Given the description of an element on the screen output the (x, y) to click on. 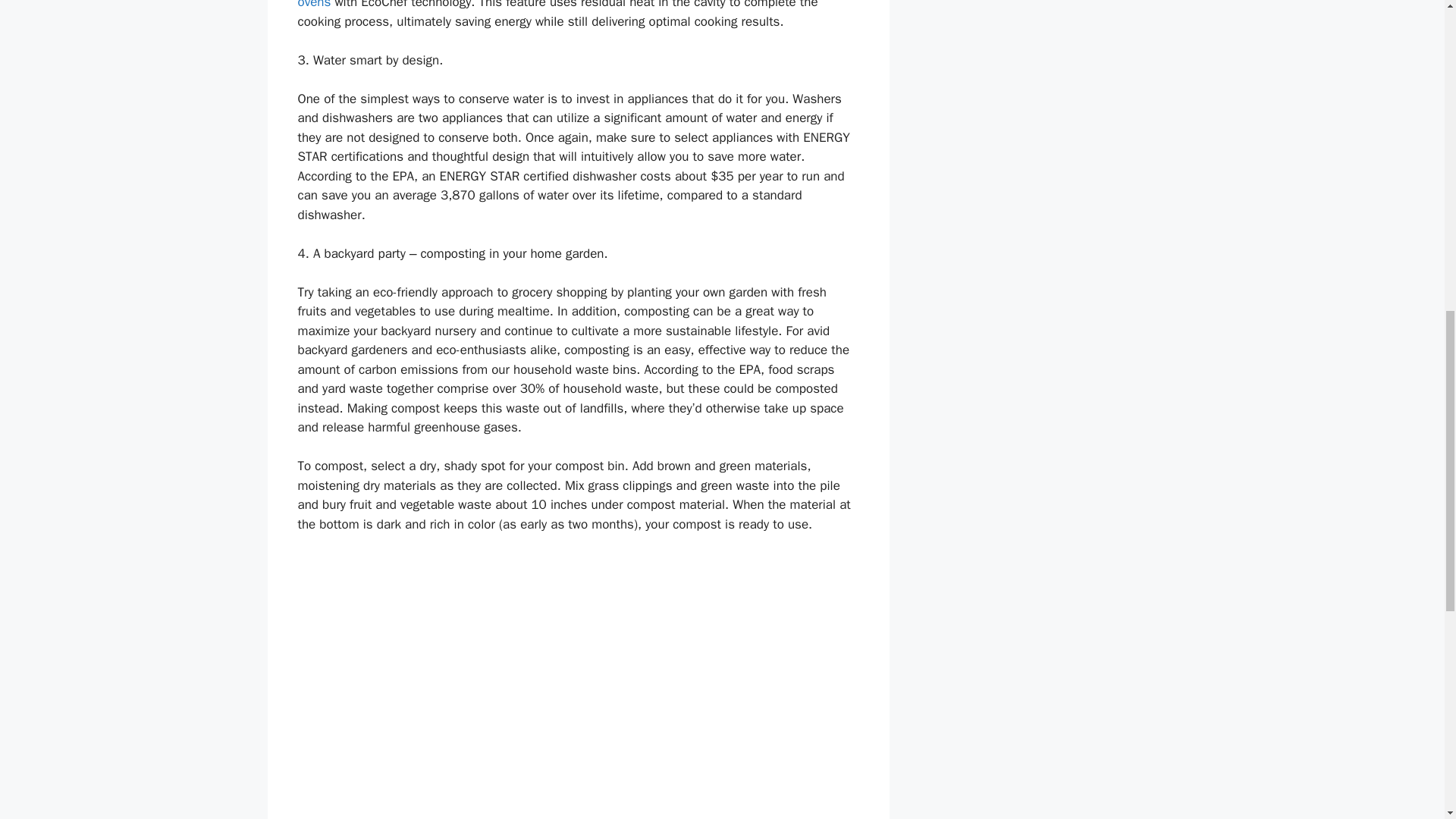
Bosch wall ovens (575, 5)
Advertisement (578, 764)
Advertisement (578, 627)
